Given the description of an element on the screen output the (x, y) to click on. 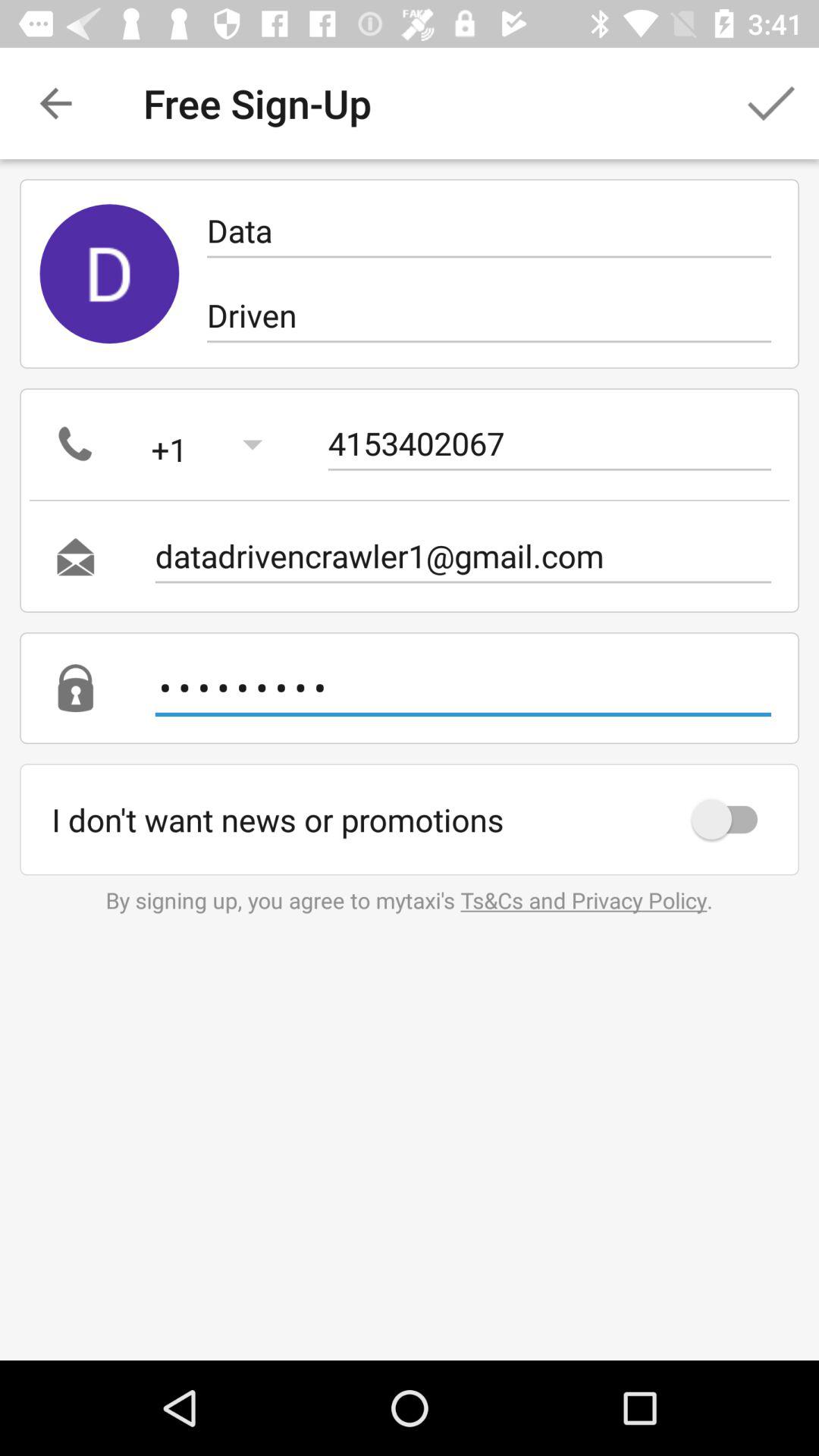
tap the item to the right of the i don t item (731, 819)
